Given the description of an element on the screen output the (x, y) to click on. 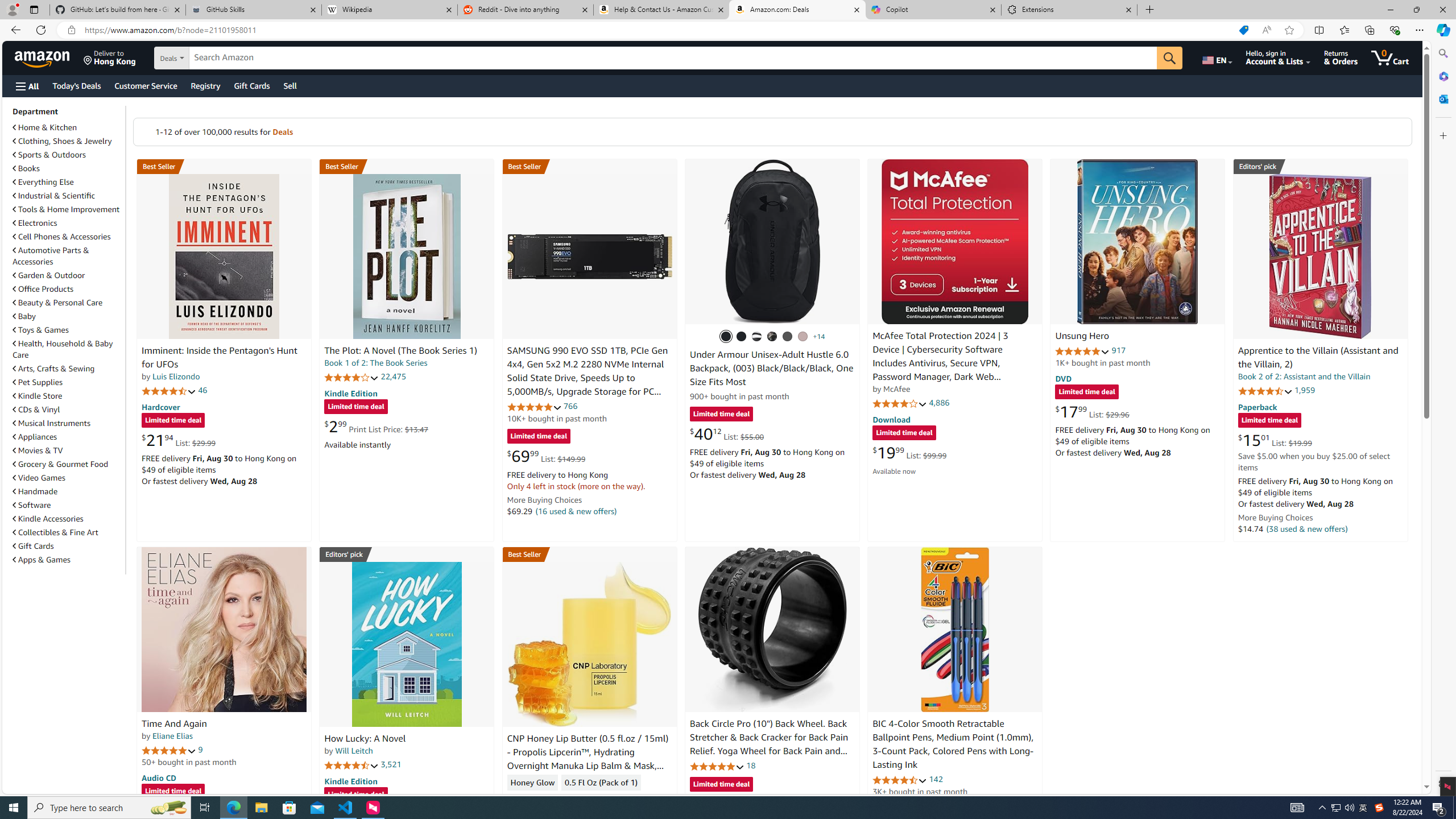
Book 2 of 2: Assistant and the Villain (1303, 376)
Health, Household & Baby Care (63, 349)
Hello, sign in Account & Lists (1278, 57)
Kindle Store (37, 395)
Handmade (35, 491)
Grocery & Gourmet Food (67, 464)
Download (891, 419)
Musical Instruments (51, 422)
1,959 (1305, 390)
Collectibles & Fine Art (67, 532)
Sports & Outdoors (67, 154)
3,521 (390, 764)
